Given the description of an element on the screen output the (x, y) to click on. 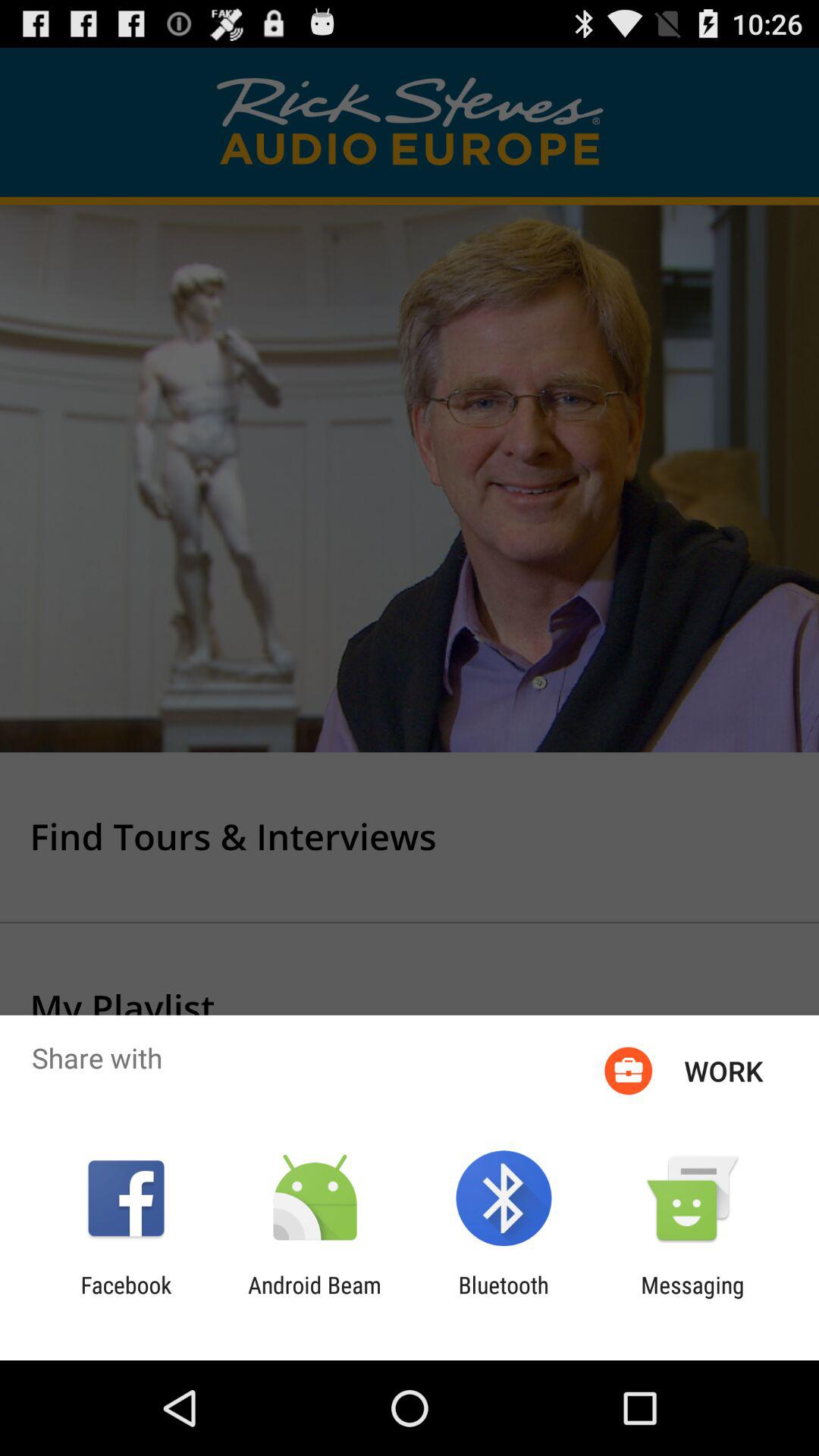
open item to the left of the bluetooth icon (314, 1298)
